Given the description of an element on the screen output the (x, y) to click on. 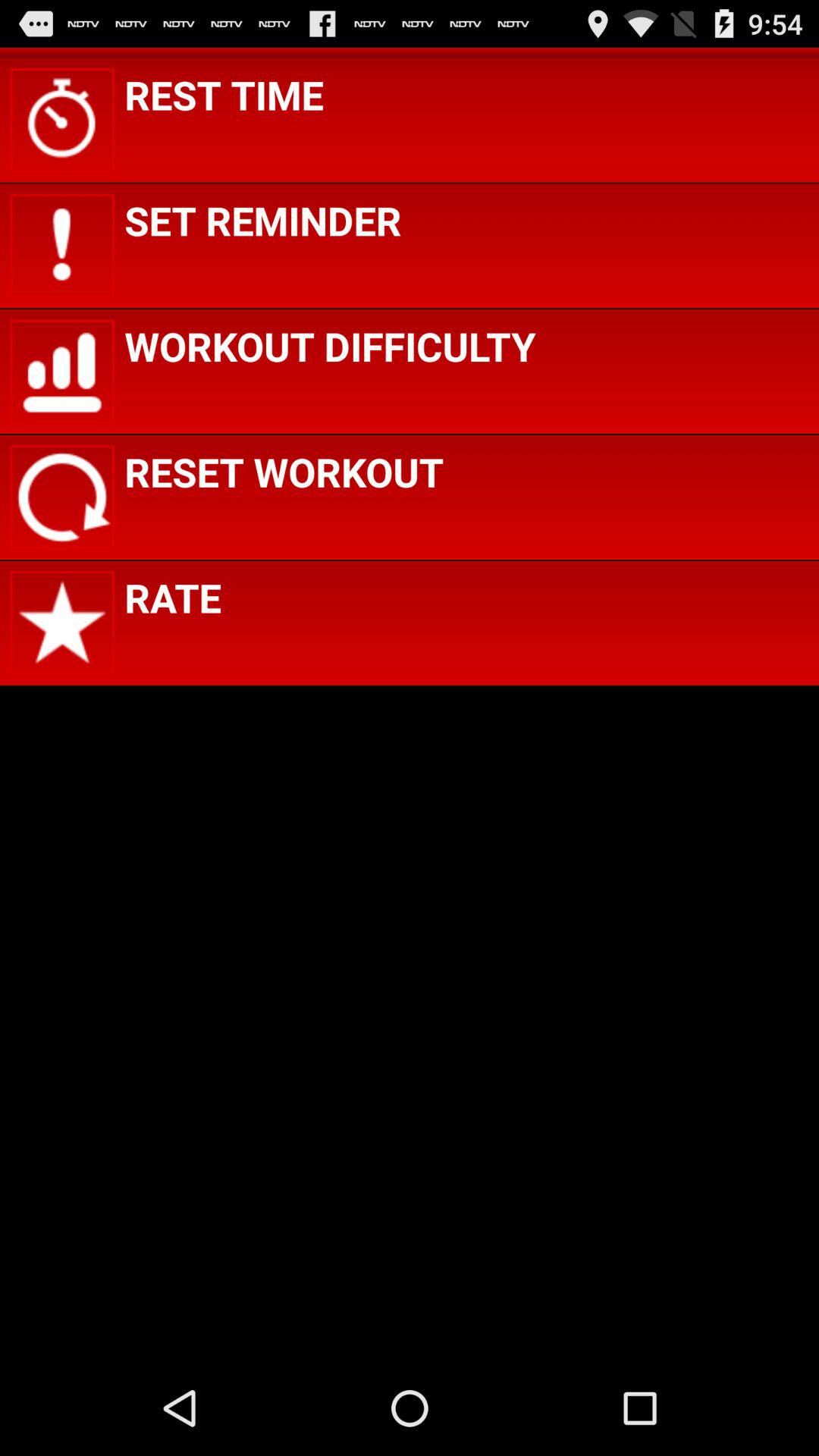
jump until the rate (172, 597)
